Given the description of an element on the screen output the (x, y) to click on. 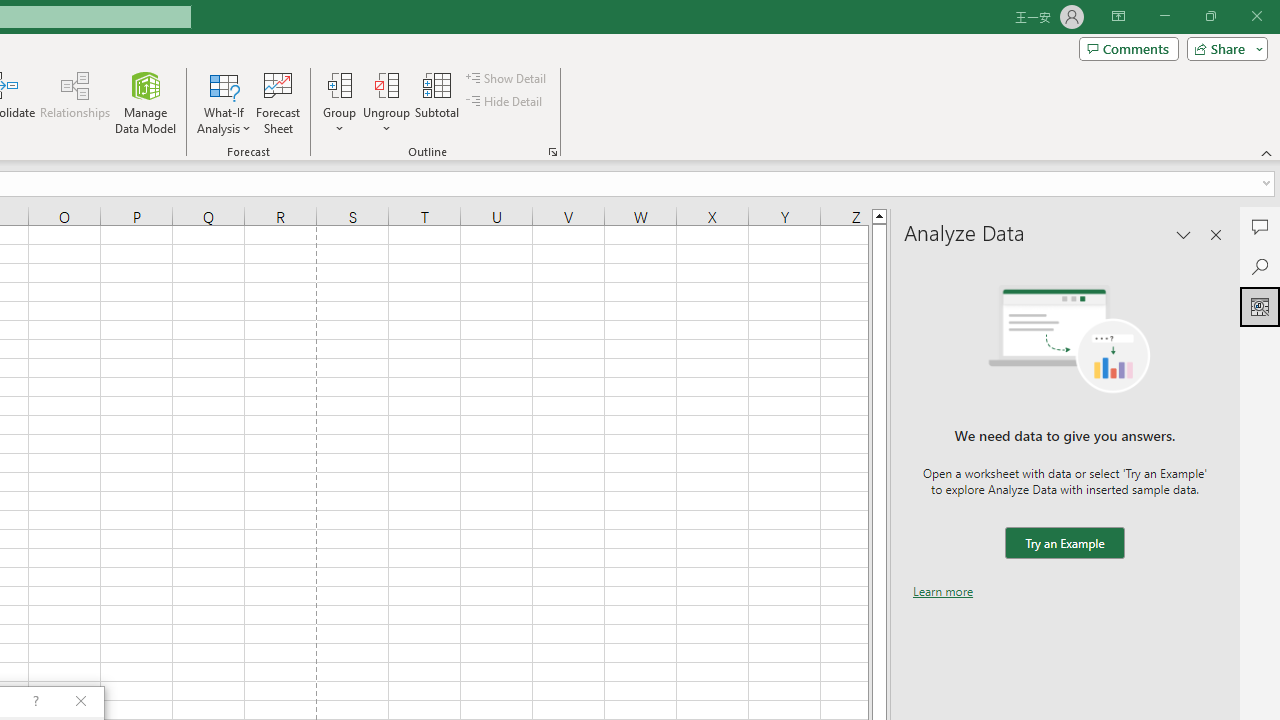
Group and Outline Settings (552, 151)
Manage Data Model (145, 102)
Subtotal (437, 102)
Forecast Sheet (278, 102)
Show Detail (507, 78)
We need data to give you answers. Try an Example (1064, 543)
